Given the description of an element on the screen output the (x, y) to click on. 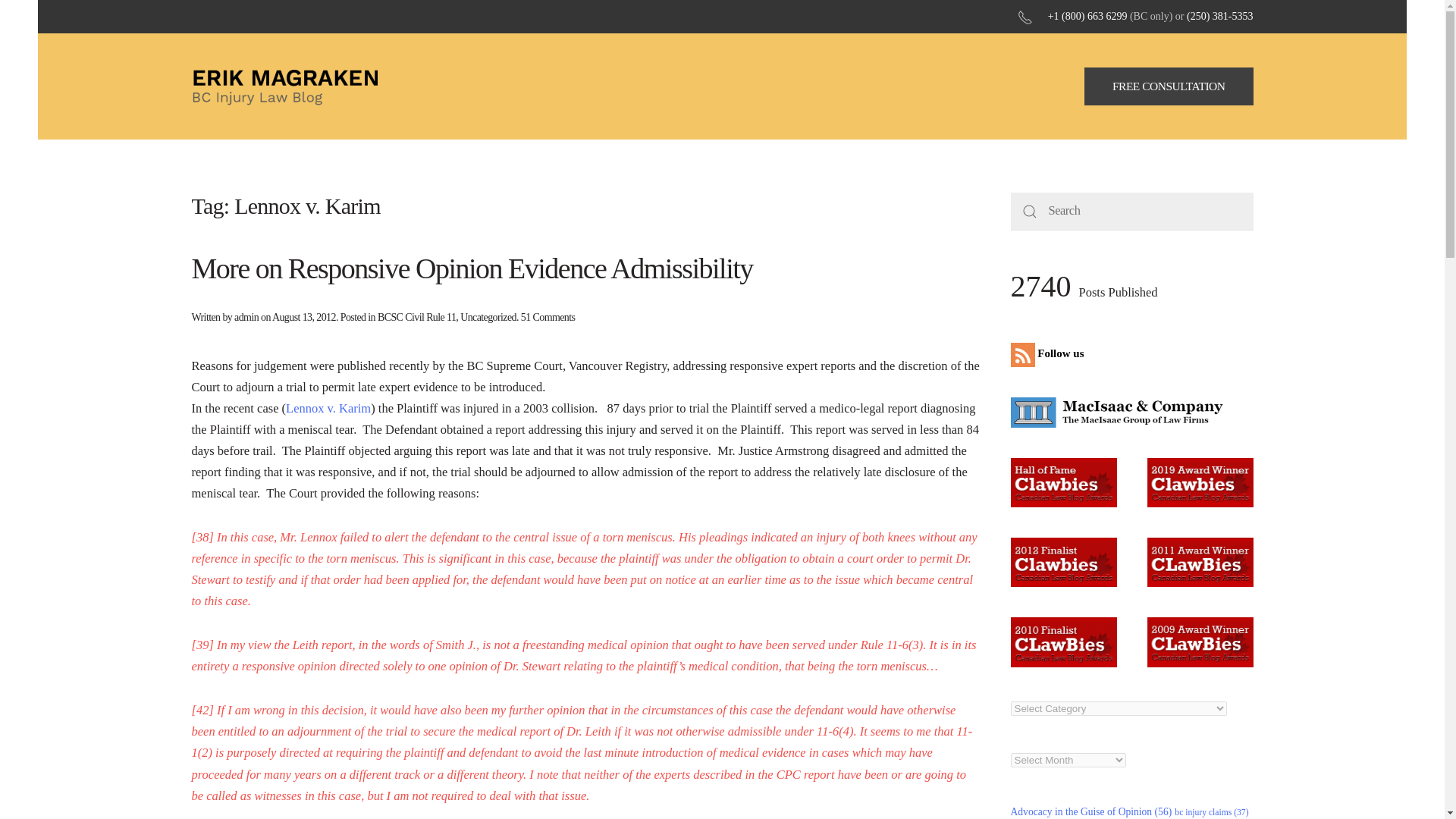
Uncategorized (488, 317)
Follow us (1050, 353)
Lennox v. Karim (328, 408)
BCSC Civil Rule 11 (416, 317)
FREE CONSULTATION (1168, 86)
admin (246, 317)
More on Responsive Opinion Evidence Admissibility (471, 268)
